Given the description of an element on the screen output the (x, y) to click on. 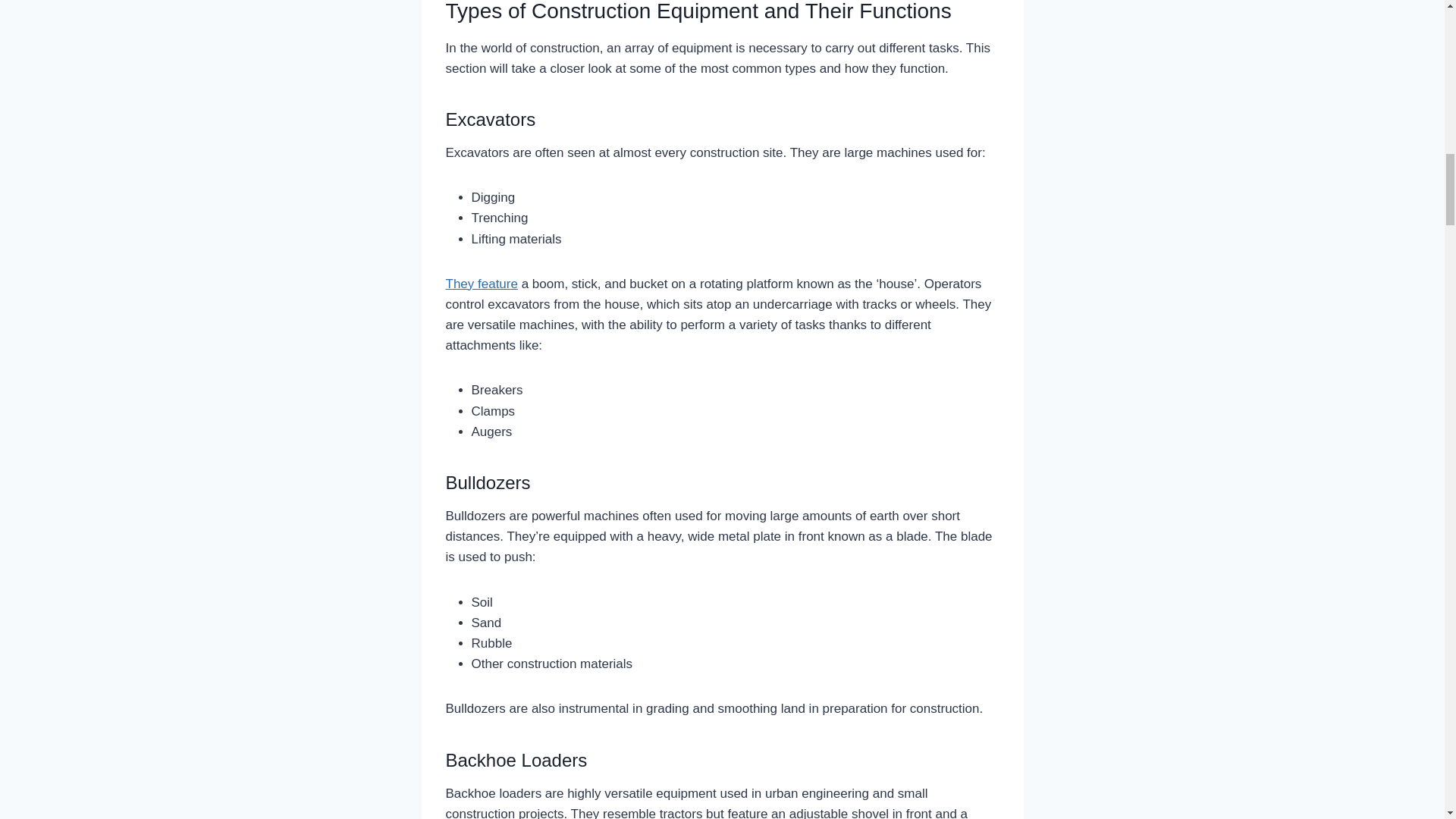
They feature (481, 283)
They feature (481, 283)
